Given the description of an element on the screen output the (x, y) to click on. 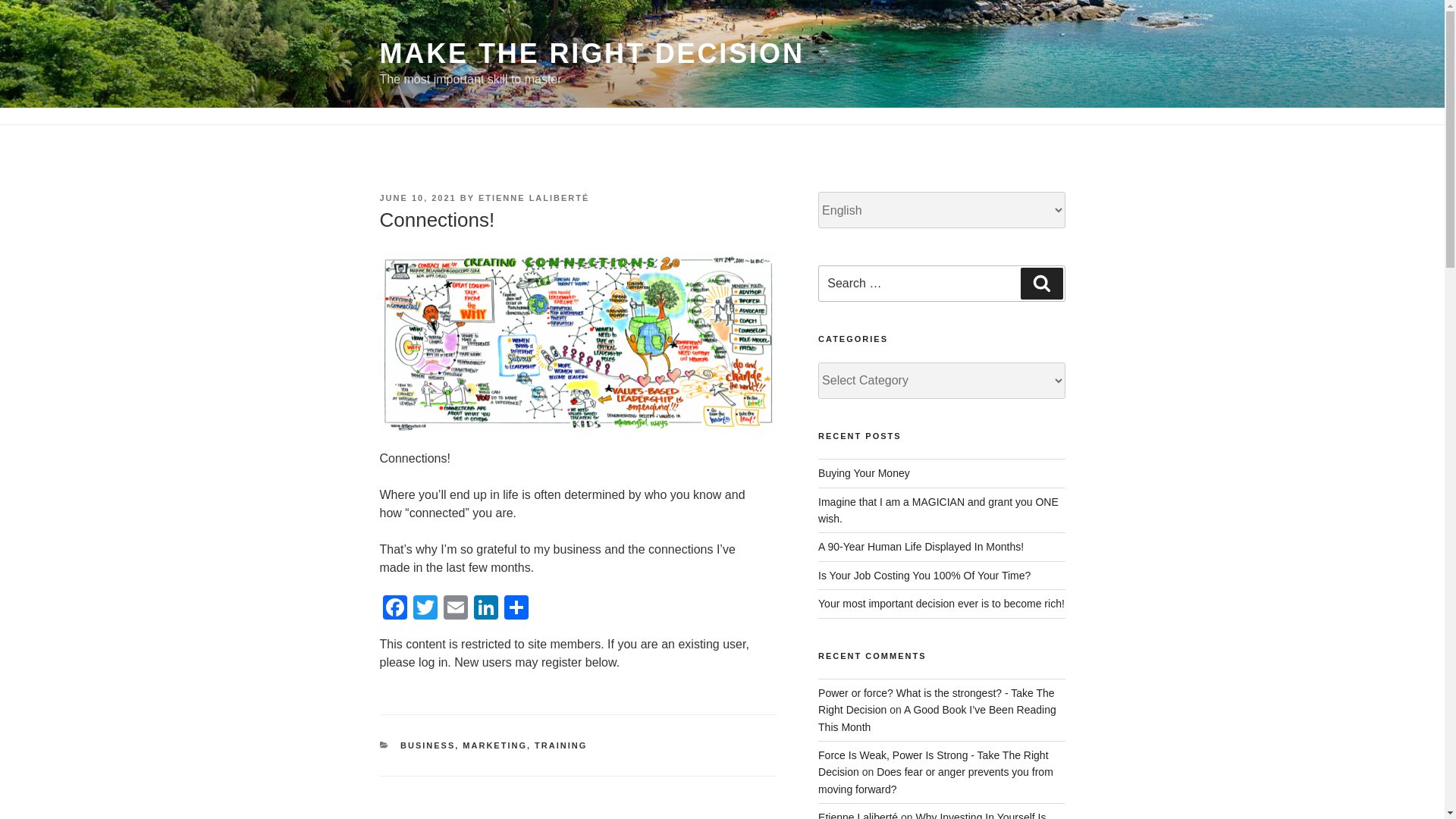
Email (454, 609)
Imagine that I am a MAGICIAN and grant you ONE wish. (938, 510)
Search (1041, 283)
MARKETING (495, 745)
Force Is Weak, Power Is Strong - Take The Right Decision (933, 763)
Email (454, 609)
Facebook (393, 609)
MAKE THE RIGHT DECISION (590, 52)
Facebook (393, 609)
Does fear or anger prevents you from moving forward? (935, 779)
A 90-Year Human Life Displayed In Months! (920, 546)
JUNE 10, 2021 (416, 197)
TRAINING (560, 745)
LinkedIn (485, 609)
